Given the description of an element on the screen output the (x, y) to click on. 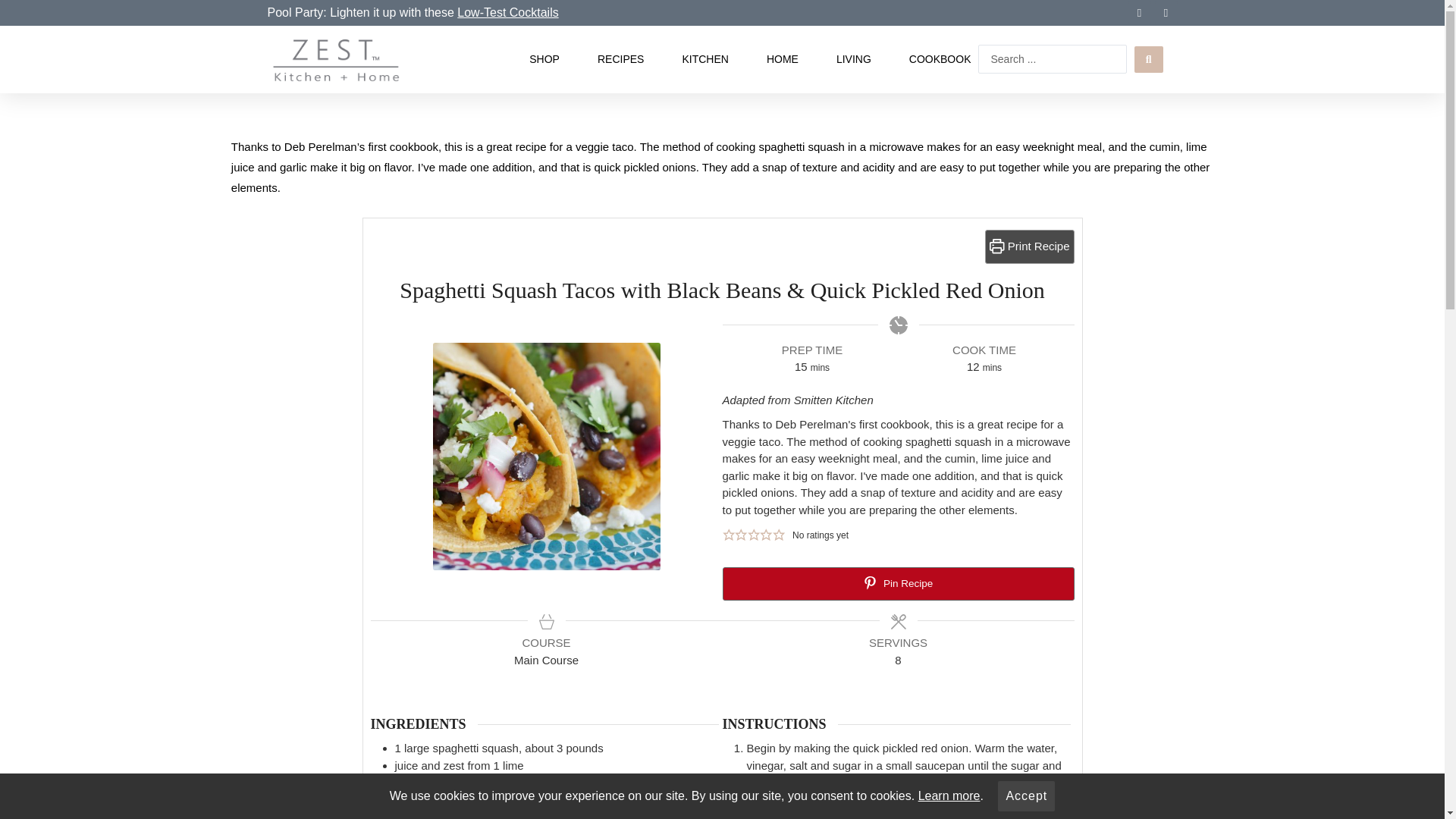
HOME (782, 58)
RECIPES (619, 58)
Low-Test Cocktails (507, 11)
Facebook (1139, 12)
Instagram (1165, 12)
LIVING (852, 58)
Print Recipe (1029, 246)
Pin Recipe (898, 584)
COOKBOOK (939, 58)
KITCHEN (704, 58)
